Given the description of an element on the screen output the (x, y) to click on. 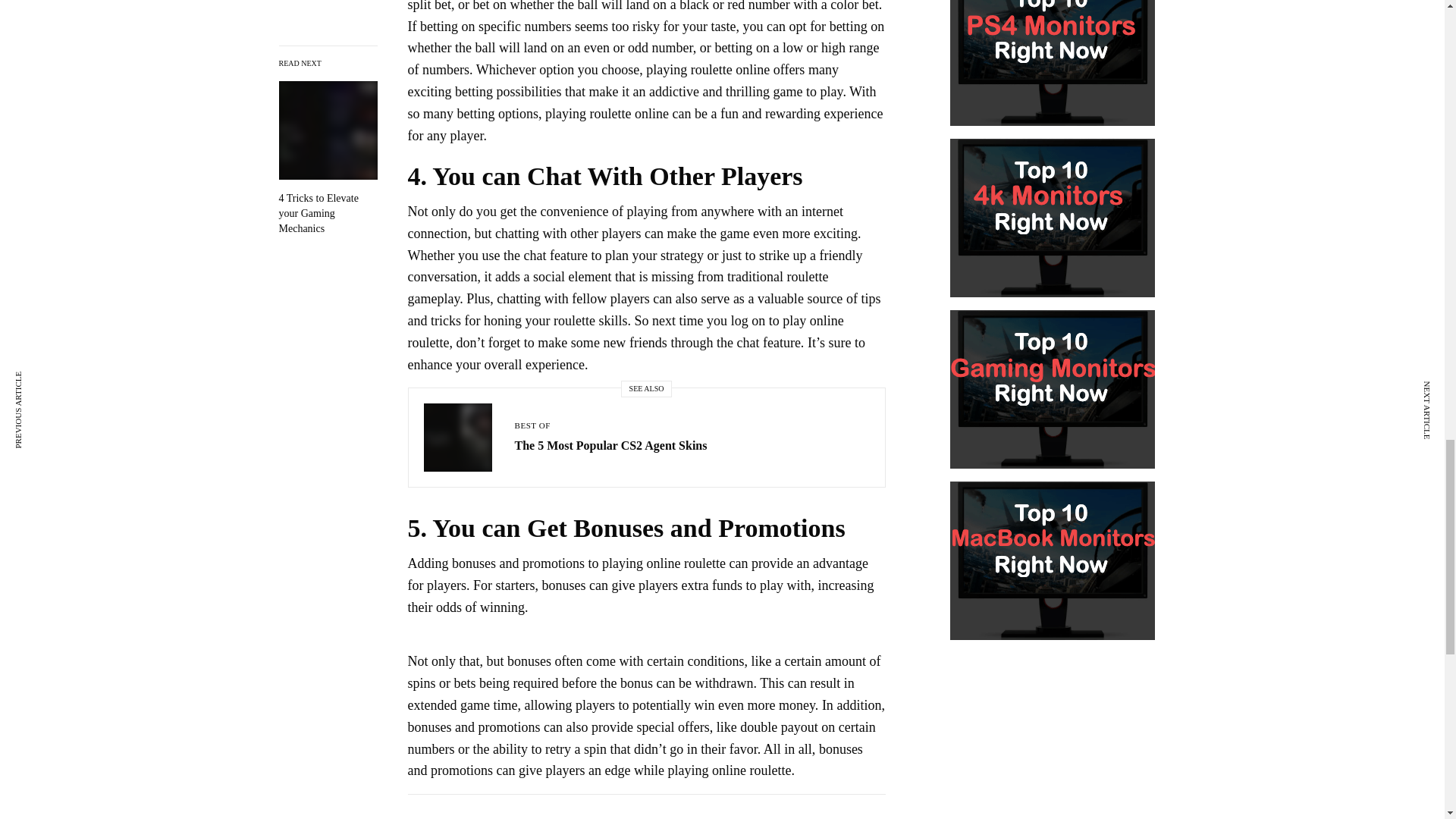
Why You Should Consider Playing Roulette Online (328, 147)
The 5 Most Popular CS2 Agent Skins (609, 445)
BEST OF (531, 424)
The 5 Most Popular CS2 Agent Skins (609, 445)
4 Tricks to Elevate your Gaming Mechanics (328, 147)
